Given the description of an element on the screen output the (x, y) to click on. 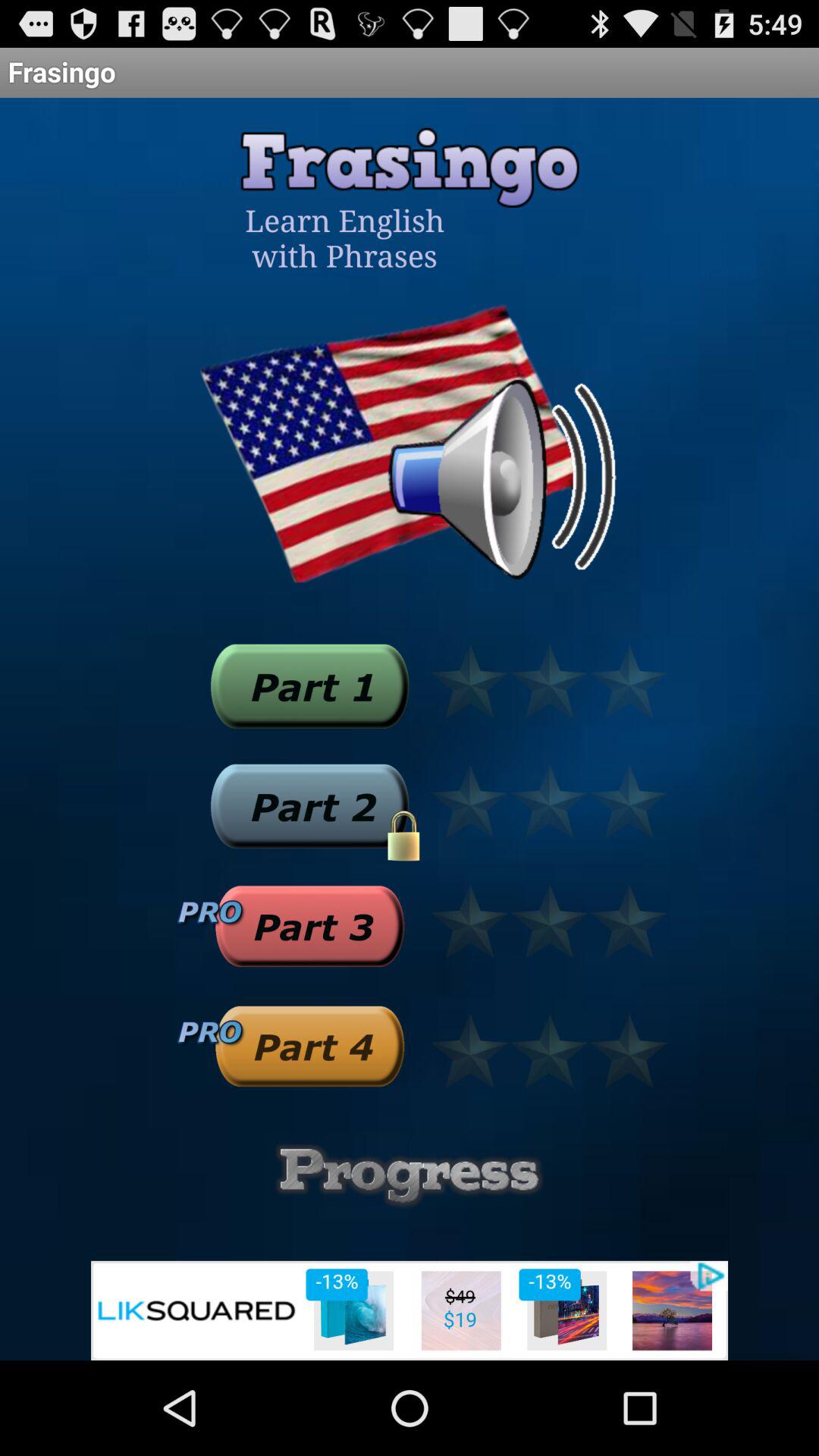
part 4 lessons (309, 1046)
